Given the description of an element on the screen output the (x, y) to click on. 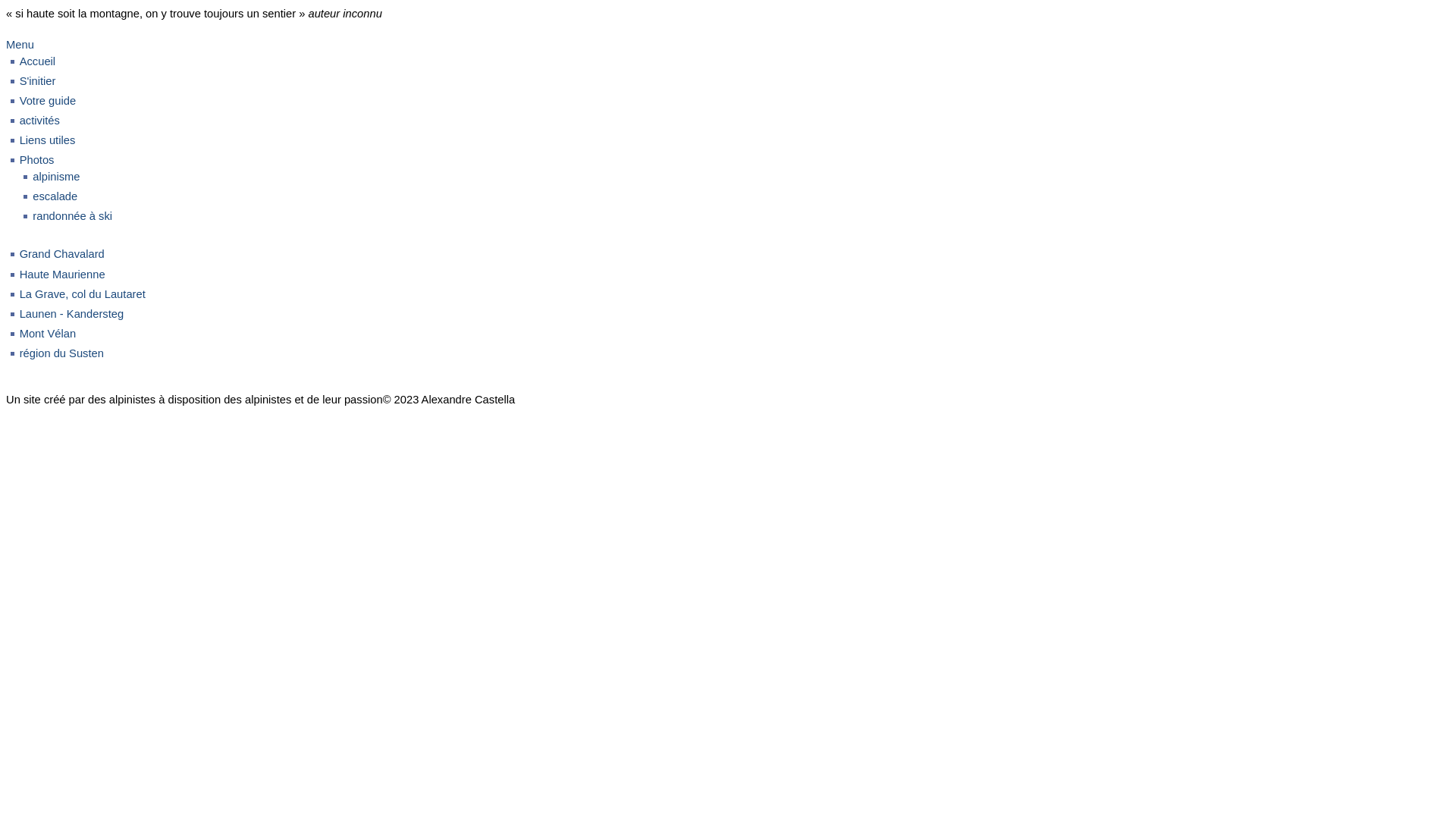
La Grave, col du Lautaret Element type: text (82, 294)
S'initier Element type: text (37, 81)
Liens utiles Element type: text (47, 140)
Haute Maurienne Element type: text (62, 274)
Launen - Kandersteg Element type: text (71, 313)
Photos Element type: text (36, 159)
Accueil Element type: text (37, 61)
Votre guide Element type: text (47, 100)
escalade Element type: text (54, 196)
Grand Chavalard Element type: text (61, 253)
Menu Element type: text (20, 44)
alpinisme Element type: text (55, 176)
